Given the description of an element on the screen output the (x, y) to click on. 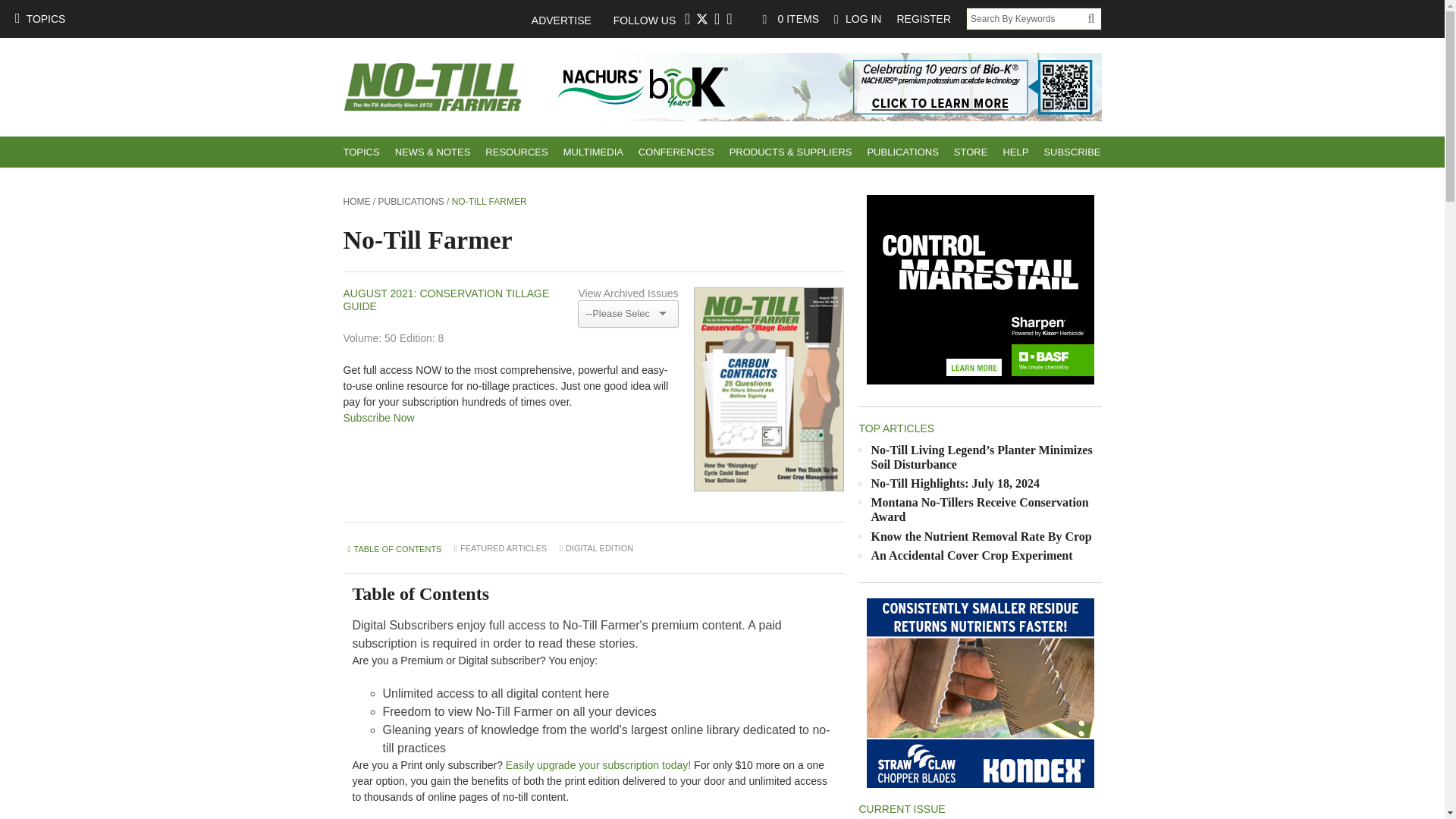
REGISTER (923, 18)
Search By Keywords (1026, 18)
TOPICS (39, 18)
Nachurs (824, 87)
LOG IN (857, 18)
TOPICS (360, 151)
Search By Keywords (1026, 18)
0 ITEMS (791, 18)
ADVERTISE (569, 20)
